Given the description of an element on the screen output the (x, y) to click on. 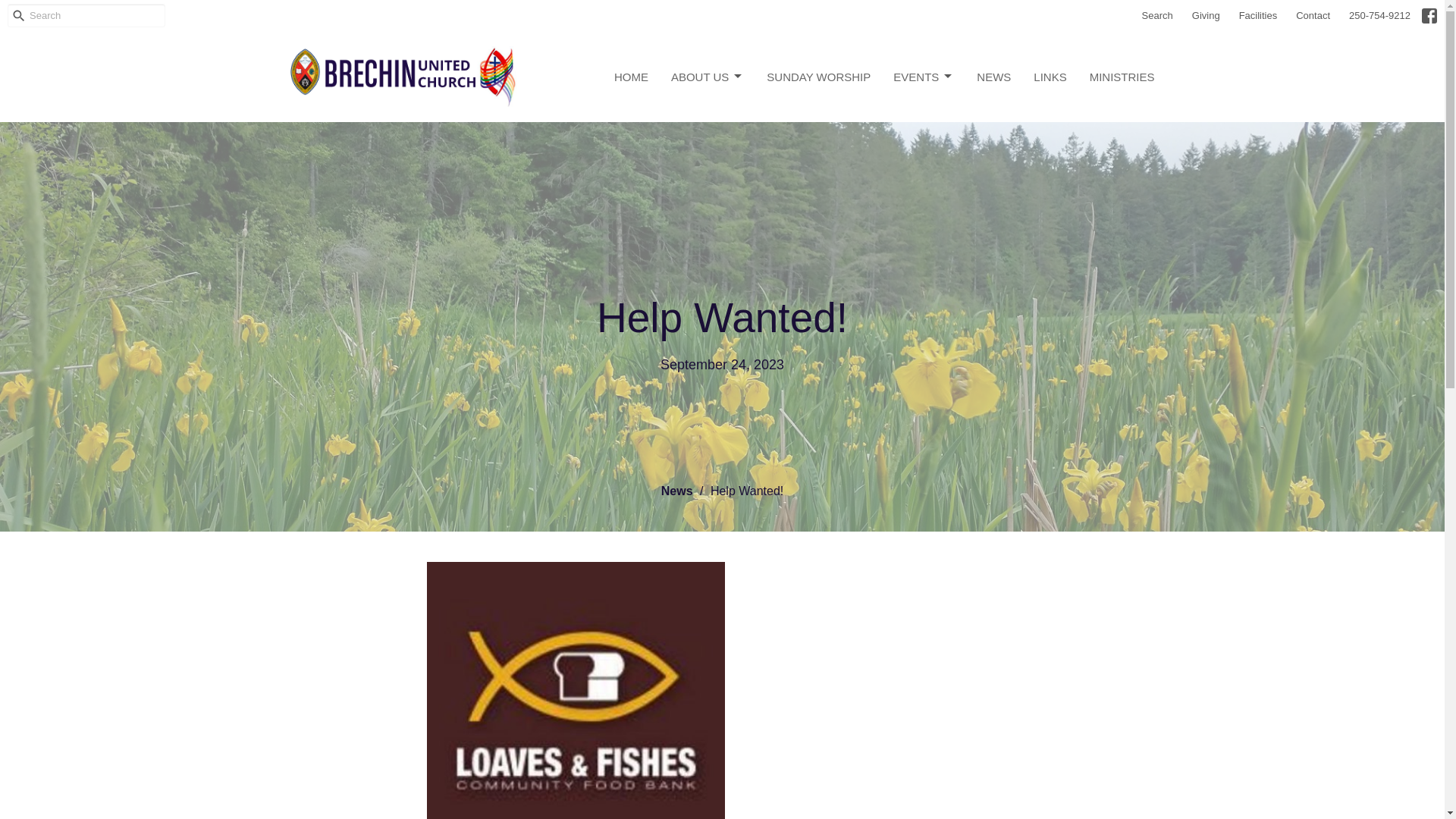
Contact (1313, 15)
Giving (1206, 15)
LINKS (1049, 76)
HOME (630, 76)
Search (1157, 15)
250-754-9212 (1379, 15)
MINISTRIES (1121, 76)
Facilities (1258, 15)
SUNDAY WORSHIP (818, 76)
NEWS (993, 76)
